Given the description of an element on the screen output the (x, y) to click on. 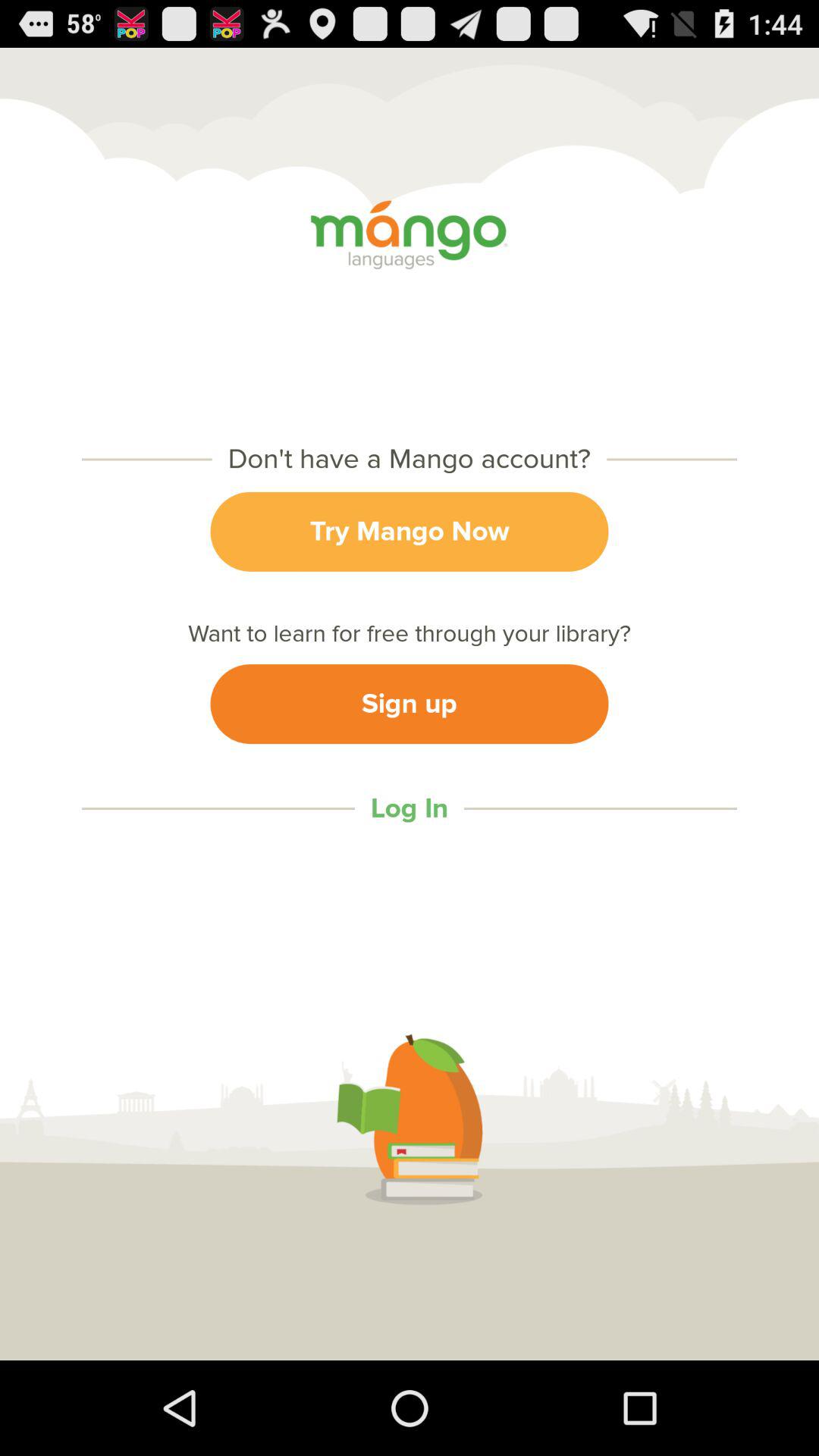
open icon below the want to learn item (409, 703)
